Given the description of an element on the screen output the (x, y) to click on. 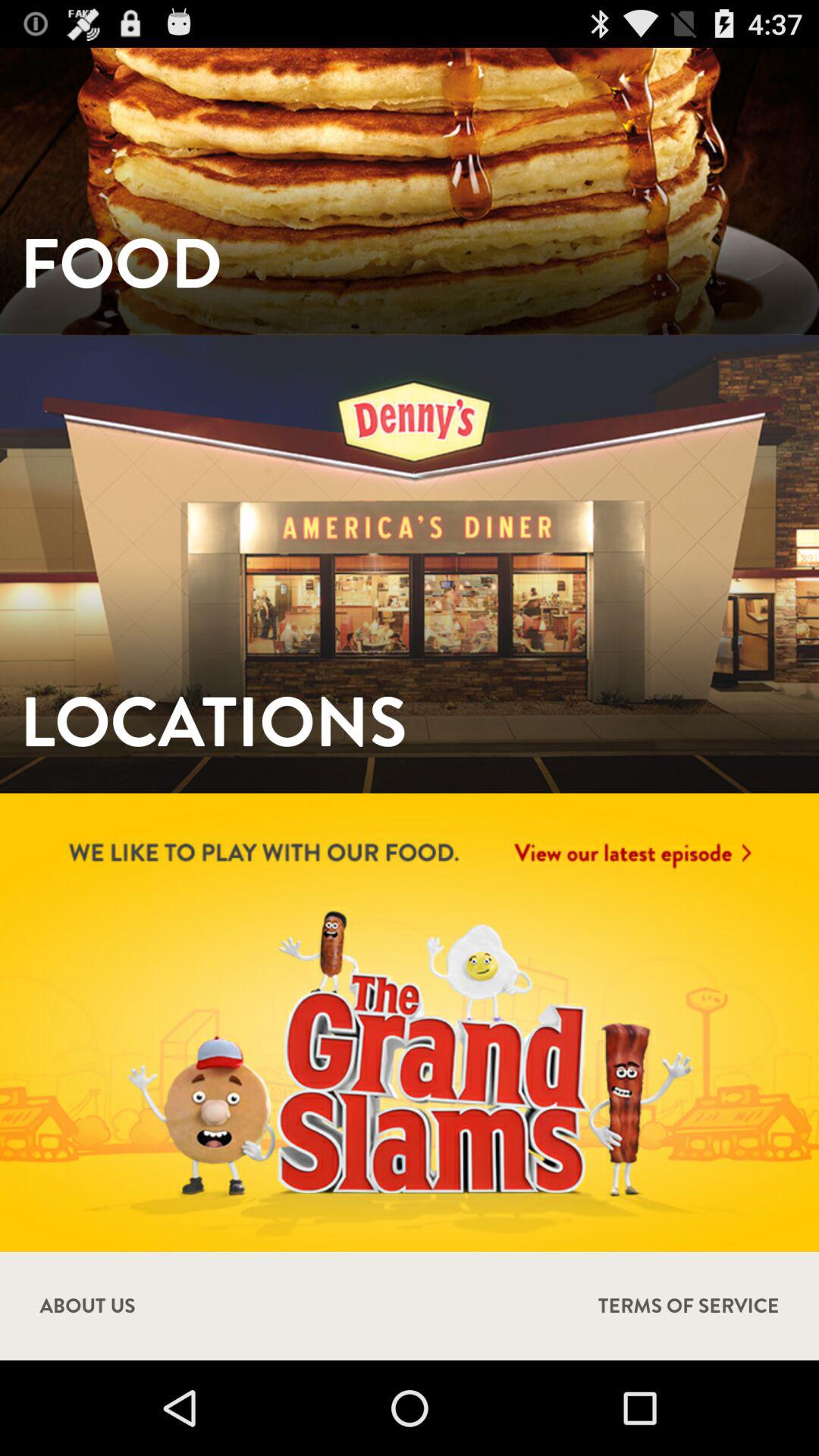
press the item to the right of about us icon (688, 1305)
